Given the description of an element on the screen output the (x, y) to click on. 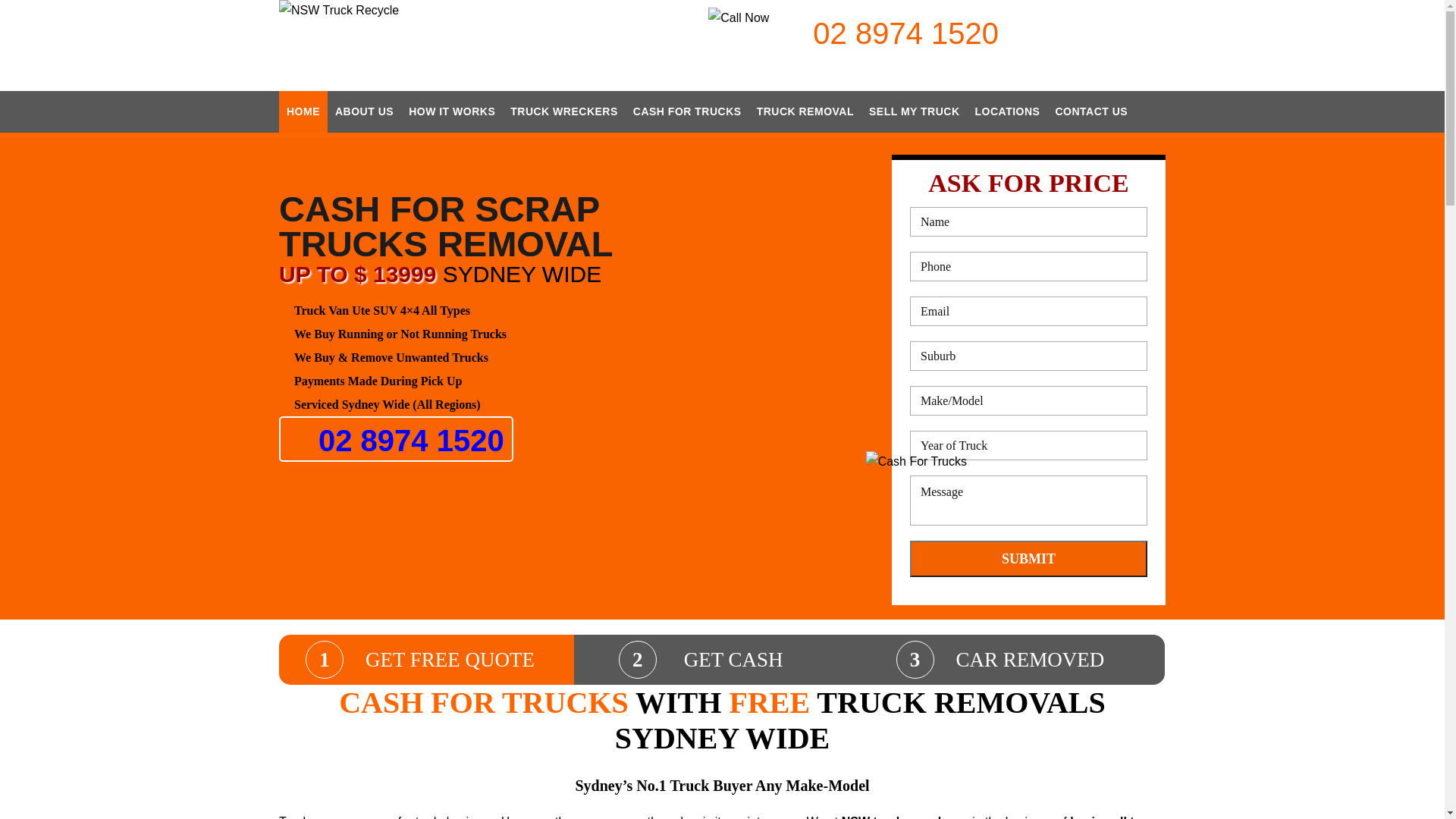
CASH FOR TRUCKS Element type: text (687, 111)
SELL MY TRUCK Element type: text (914, 111)
TRUCK WRECKERS Element type: text (563, 111)
HOME Element type: text (303, 111)
HOW IT WORKS Element type: text (451, 111)
02 8974 1520 Element type: text (396, 438)
ABOUT US Element type: text (364, 111)
TRUCK REMOVAL Element type: text (805, 111)
LOCATIONS Element type: text (1007, 111)
NSW Truck Recycle Sydney Element type: hover (338, 9)
CONTACT US Element type: text (1091, 111)
02 8974 1520 Element type: text (905, 33)
Submit Element type: text (1028, 558)
